Given the description of an element on the screen output the (x, y) to click on. 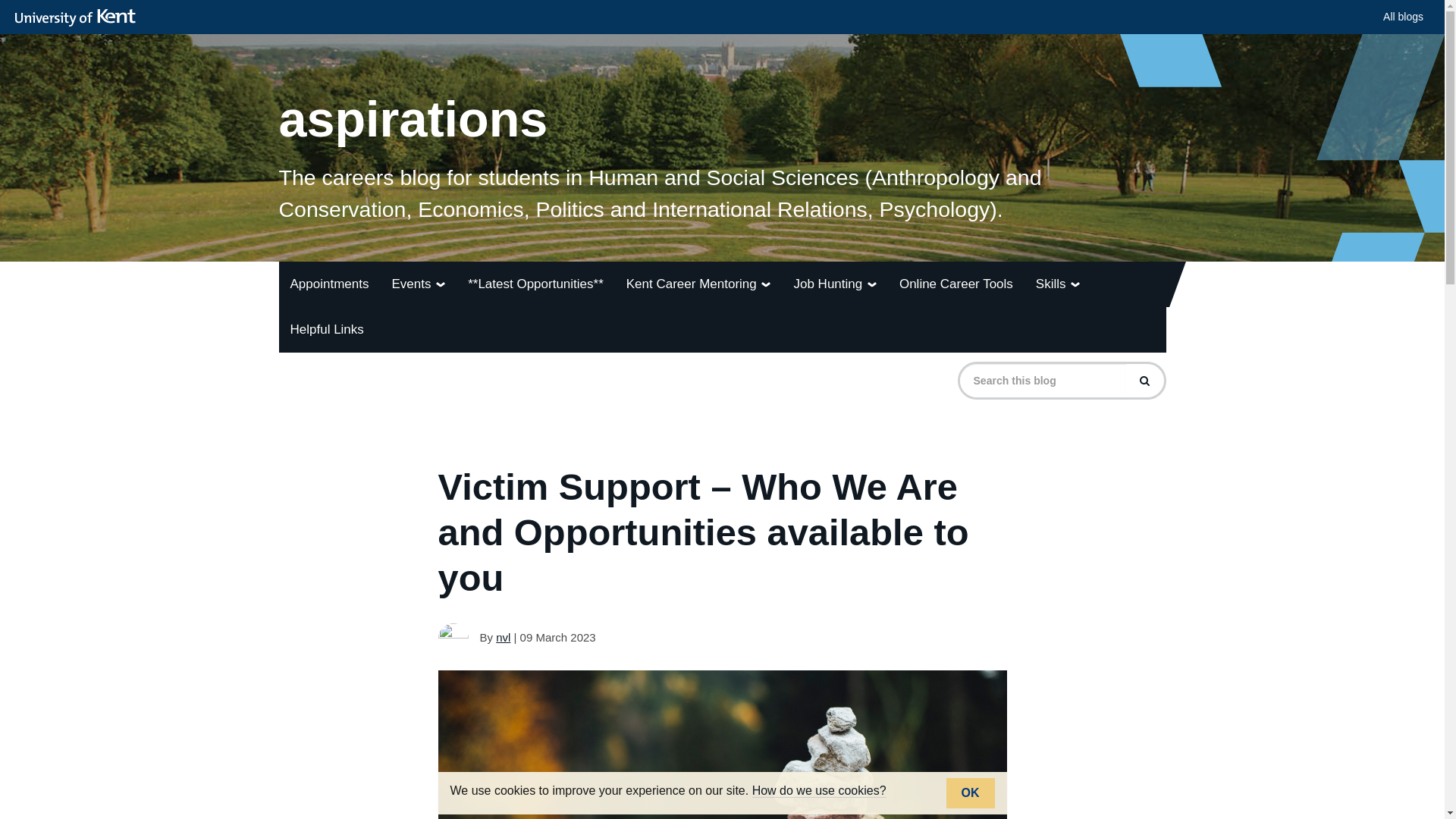
How do we use cookies? (819, 790)
Job Hunting (833, 284)
Helpful Links (327, 329)
aspirations (722, 90)
Kent Career Mentoring (698, 284)
Events (418, 284)
Skills (1057, 284)
Online Career Tools (956, 284)
Search (1144, 380)
nvl (503, 636)
